Given the description of an element on the screen output the (x, y) to click on. 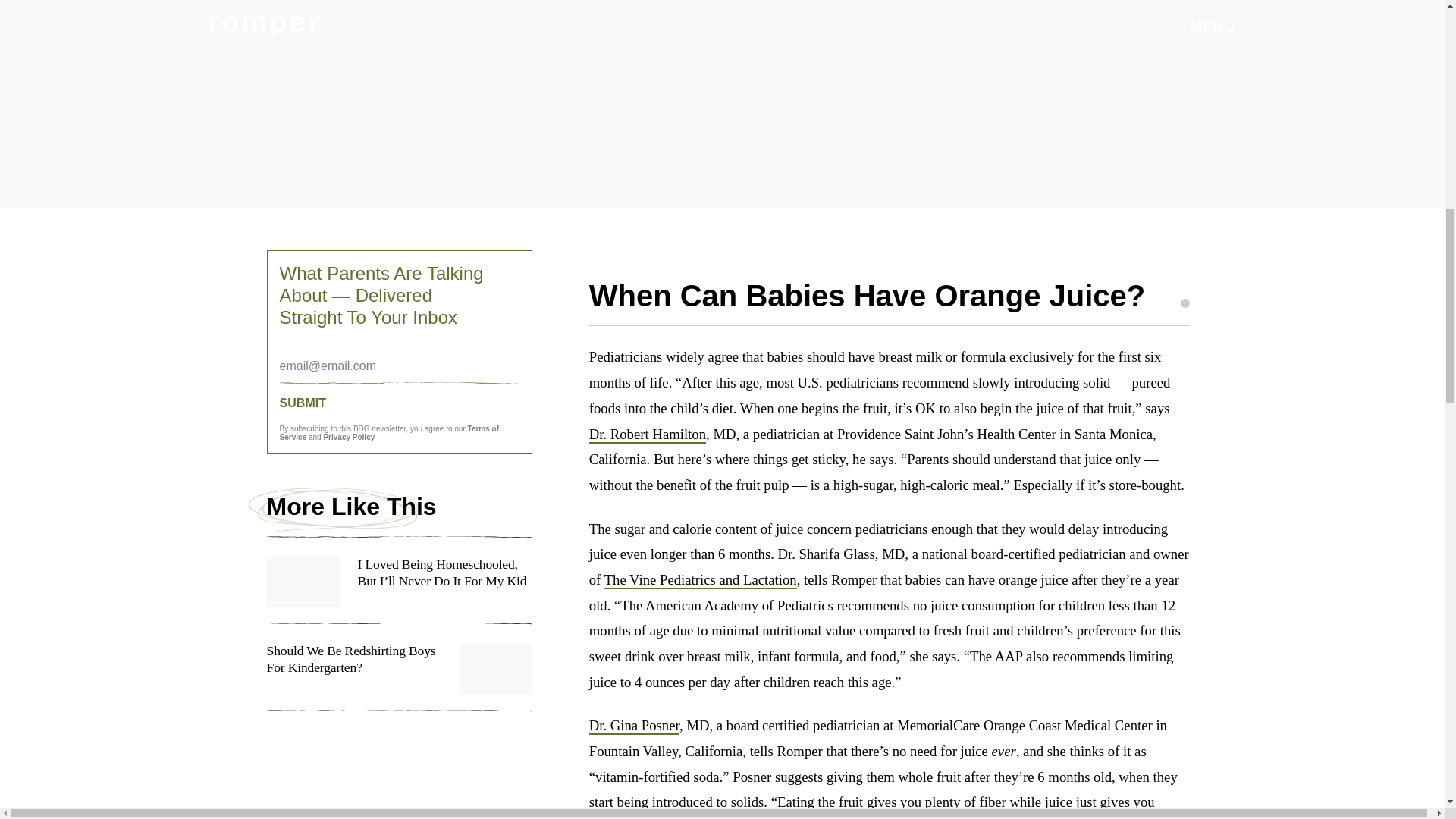
The Vine Pediatrics and Lactation (700, 579)
Should We Be Redshirting Boys For Kindergarten? (399, 676)
SUBMIT (399, 403)
Terms of Service (389, 433)
Dr. Robert Hamilton (647, 434)
Eating the fruit gives you plenty of fiber (891, 802)
Dr. Gina Posner (634, 725)
Privacy Policy (348, 437)
